Given the description of an element on the screen output the (x, y) to click on. 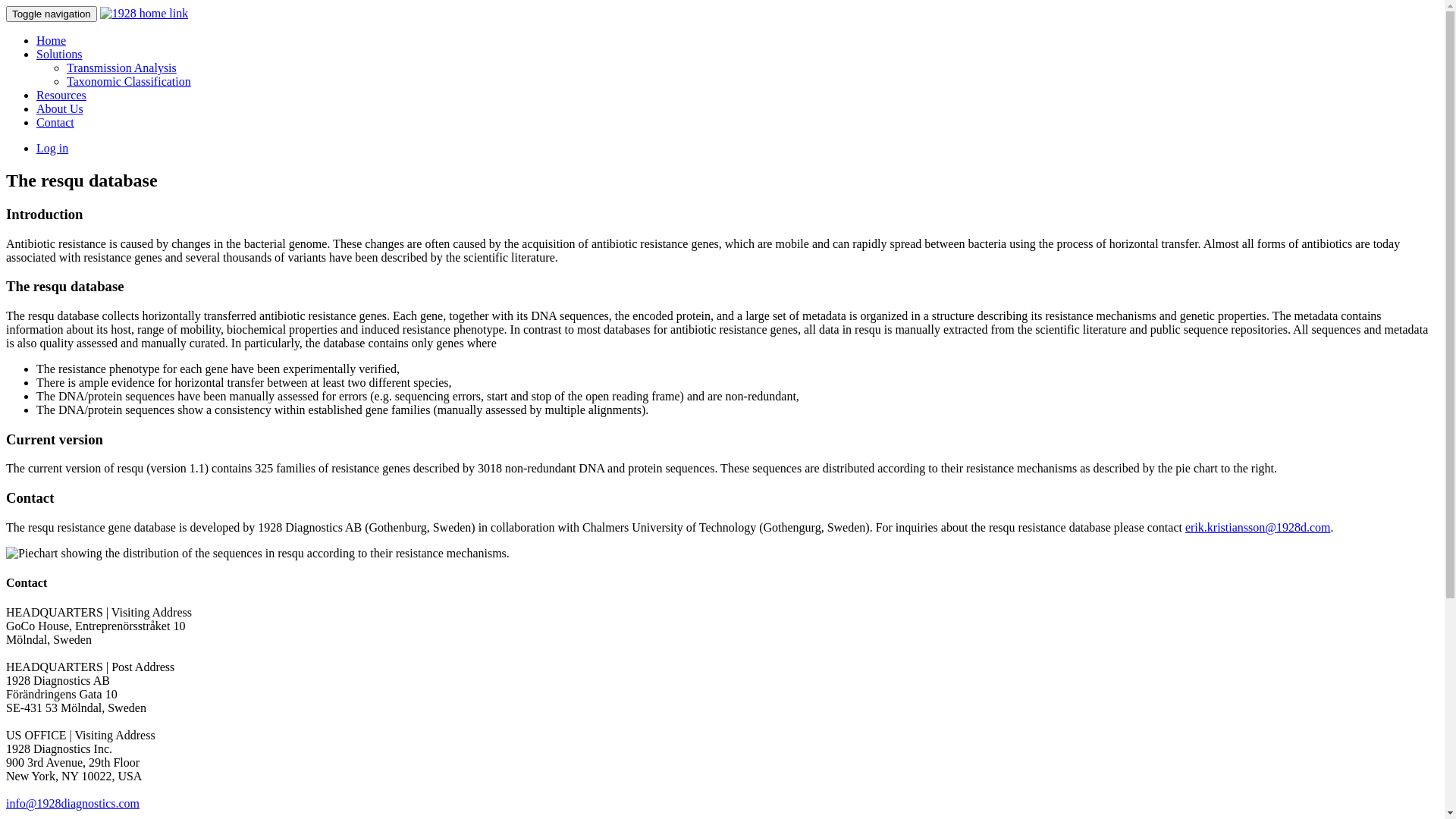
Resources Element type: text (61, 94)
Solutions Element type: text (58, 53)
info@1928diagnostics.com Element type: text (72, 803)
Log in Element type: text (52, 147)
Home Element type: text (50, 40)
Contact Element type: text (55, 122)
About Us Element type: text (59, 108)
Transmission Analysis Element type: text (121, 67)
erik.kristiansson@1928d.com Element type: text (1257, 526)
Toggle navigation Element type: text (51, 13)
Taxonomic Classification Element type: text (128, 81)
